Given the description of an element on the screen output the (x, y) to click on. 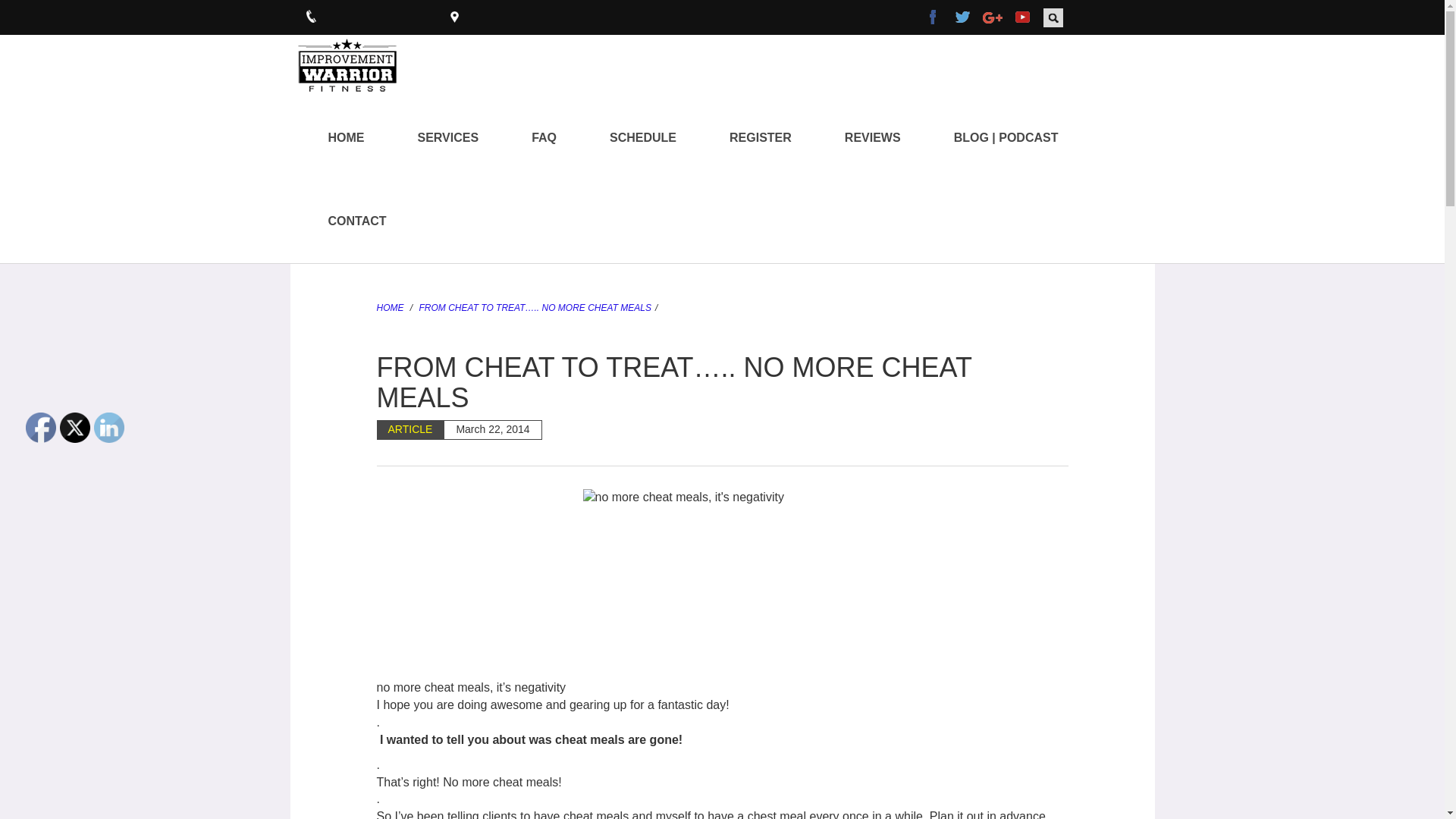
Twitter (74, 427)
LinkedIn (108, 427)
Facebook (41, 427)
